Given the description of an element on the screen output the (x, y) to click on. 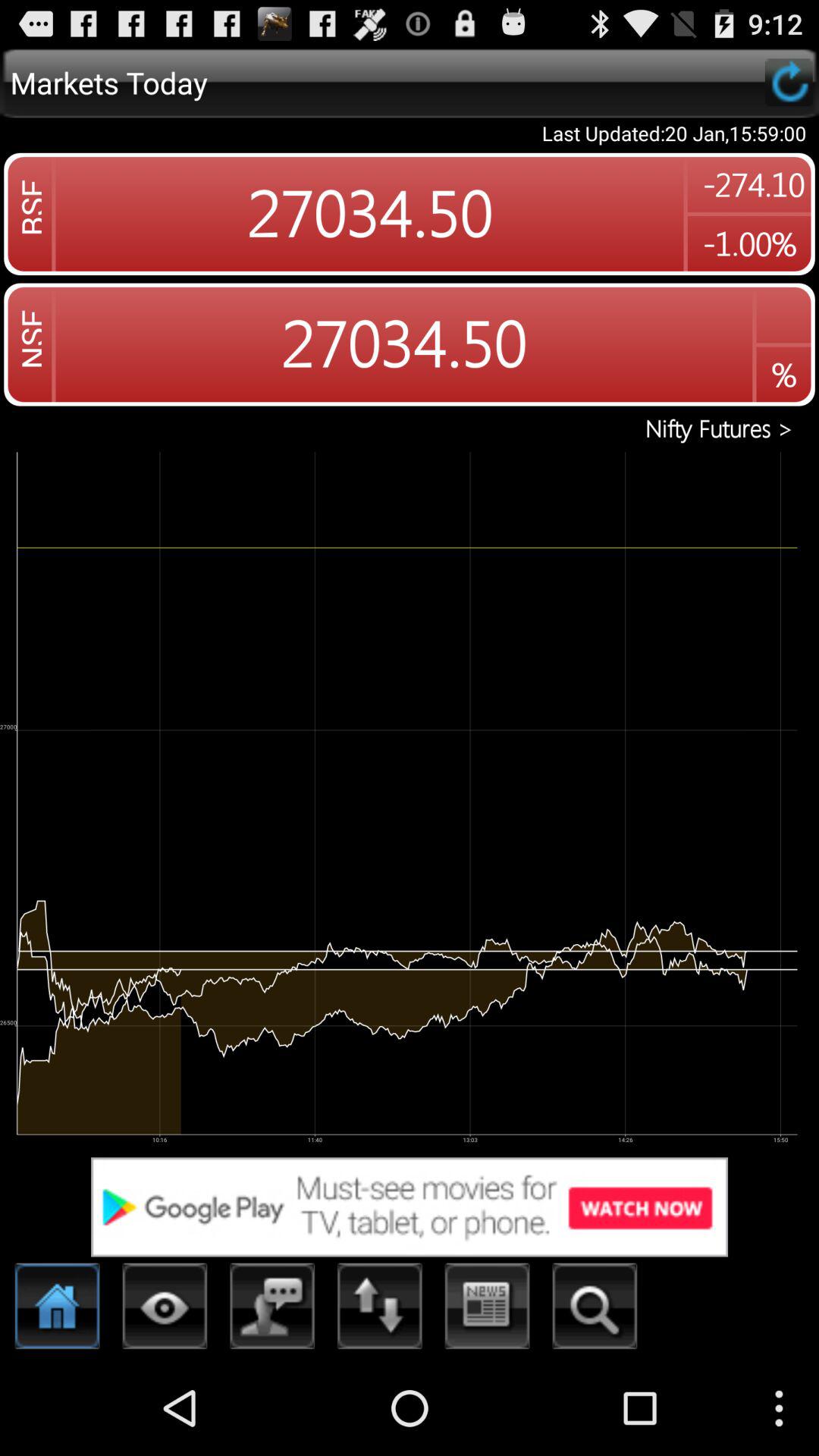
reading mode (164, 1310)
